Given the description of an element on the screen output the (x, y) to click on. 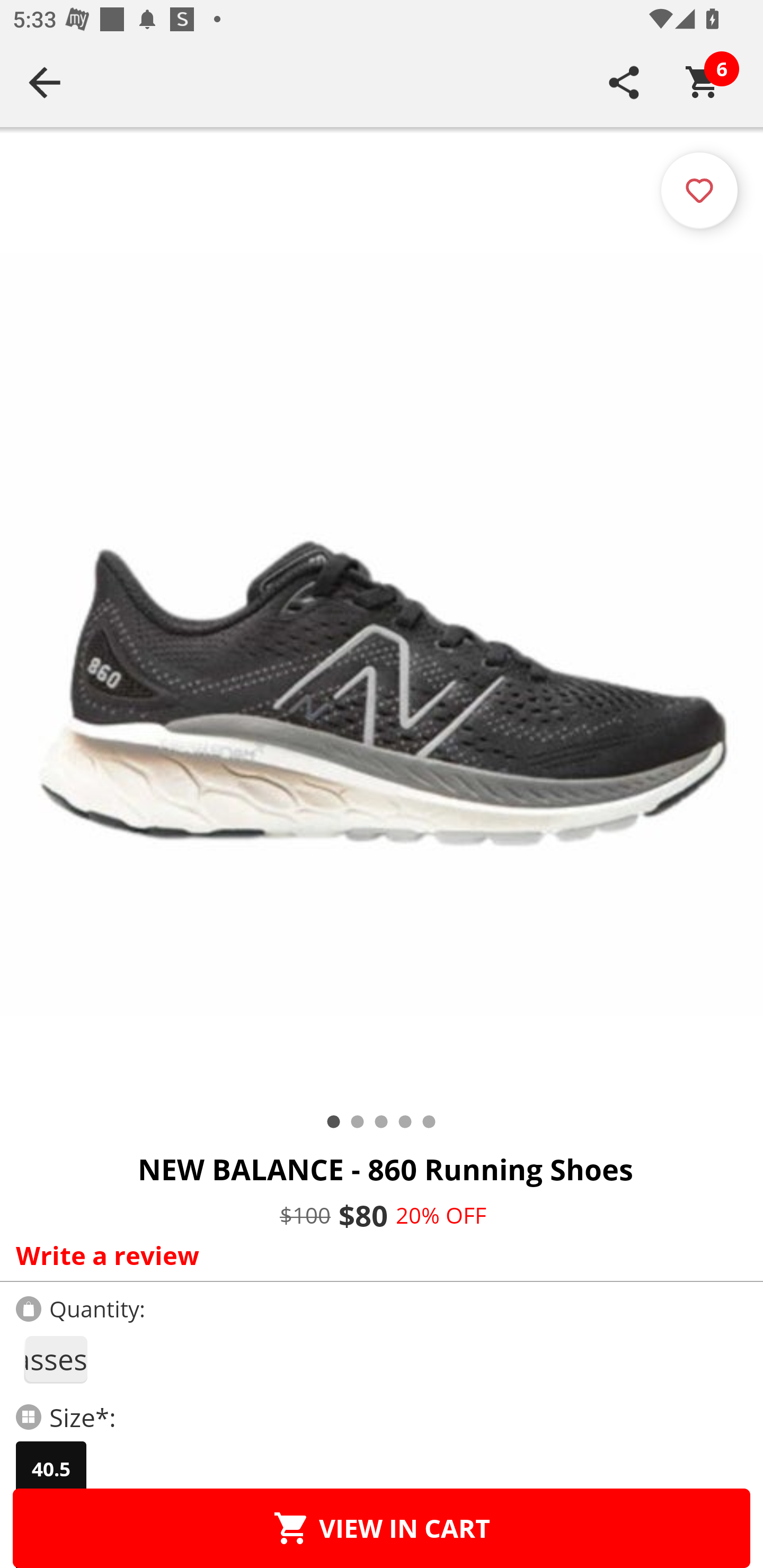
Navigate up (44, 82)
SHARE (623, 82)
Cart (703, 81)
Write a review (377, 1255)
1walletsunglasses (55, 1358)
40.5 (51, 1468)
VIEW IN CART (381, 1528)
